Given the description of an element on the screen output the (x, y) to click on. 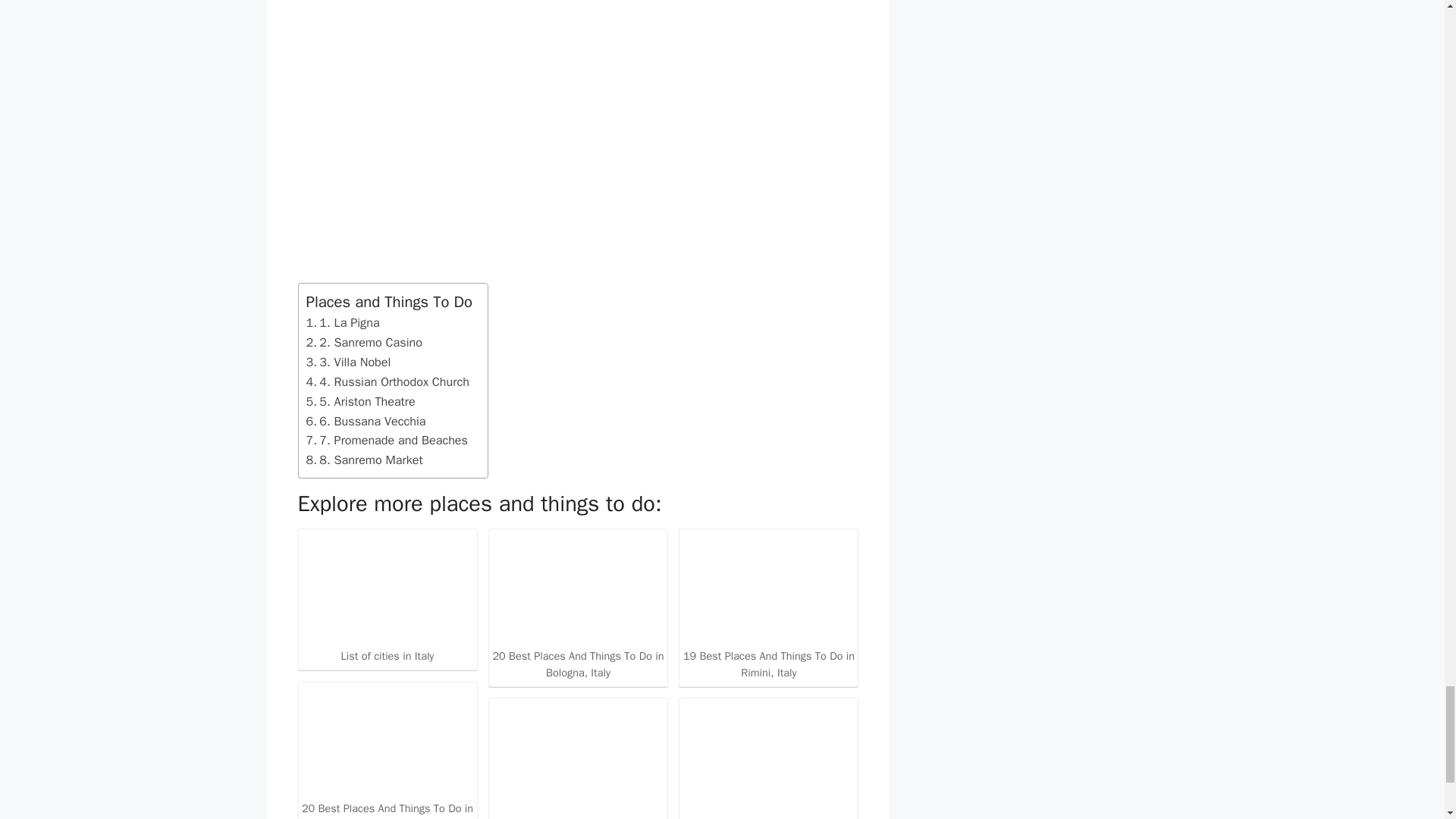
8. Sanremo Market (364, 460)
20 Best Places And Things To Do in Turin, Italy (387, 741)
5. Ariston Theatre (359, 401)
2. Sanremo Casino (363, 342)
List of cities in Italy (386, 601)
7. Promenade and Beaches (386, 440)
4. Russian Orthodox Church (386, 382)
15 Best Places And Things To Do in Genoa, Italy (577, 757)
1. La Pigna (342, 322)
6. Bussana Vecchia (365, 421)
2. Sanremo Casino (363, 342)
15 Best Places And Things To Do in Genoa, Italy (578, 760)
8. Sanremo Market (364, 460)
15 Best Places And Things To Do in La Spezia, Italy (768, 760)
20 Best Places And Things To Do in Turin, Italy (386, 753)
